Given the description of an element on the screen output the (x, y) to click on. 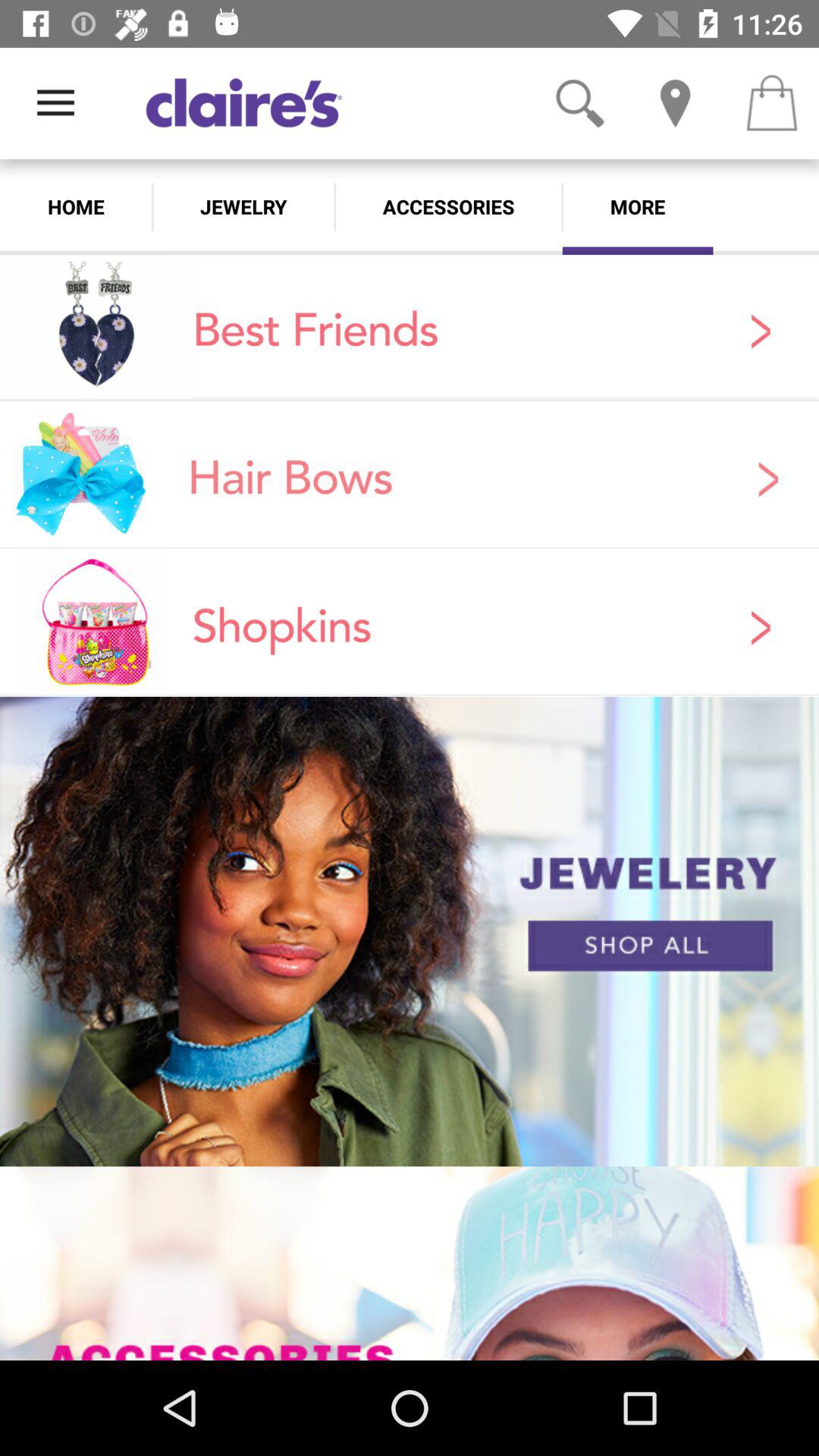
press item to the left of more icon (448, 206)
